Given the description of an element on the screen output the (x, y) to click on. 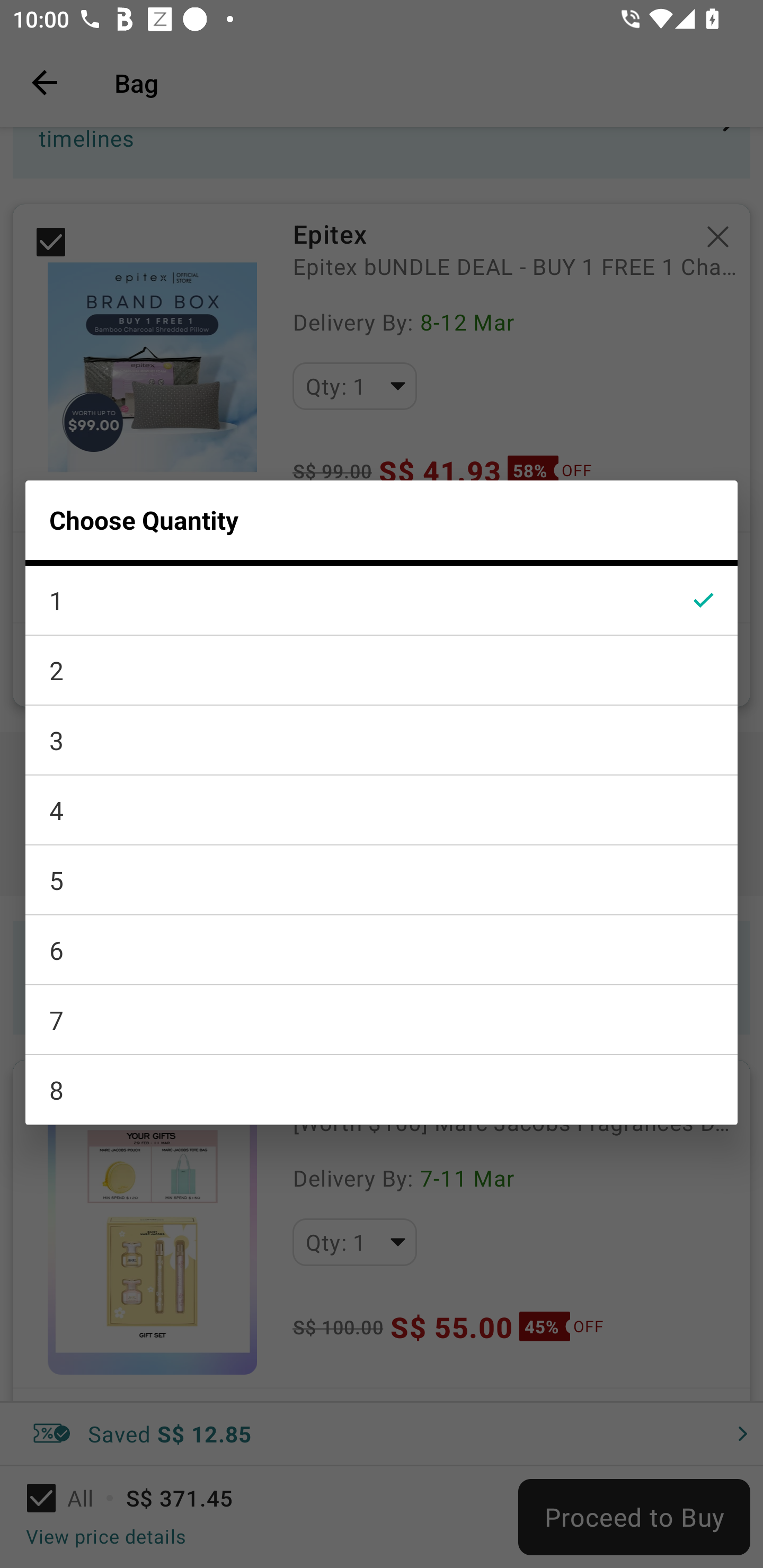
1 (381, 600)
2 (381, 670)
3 (381, 740)
4 (381, 810)
5 (381, 880)
6 (381, 949)
7 (381, 1019)
8 (381, 1090)
